Given the description of an element on the screen output the (x, y) to click on. 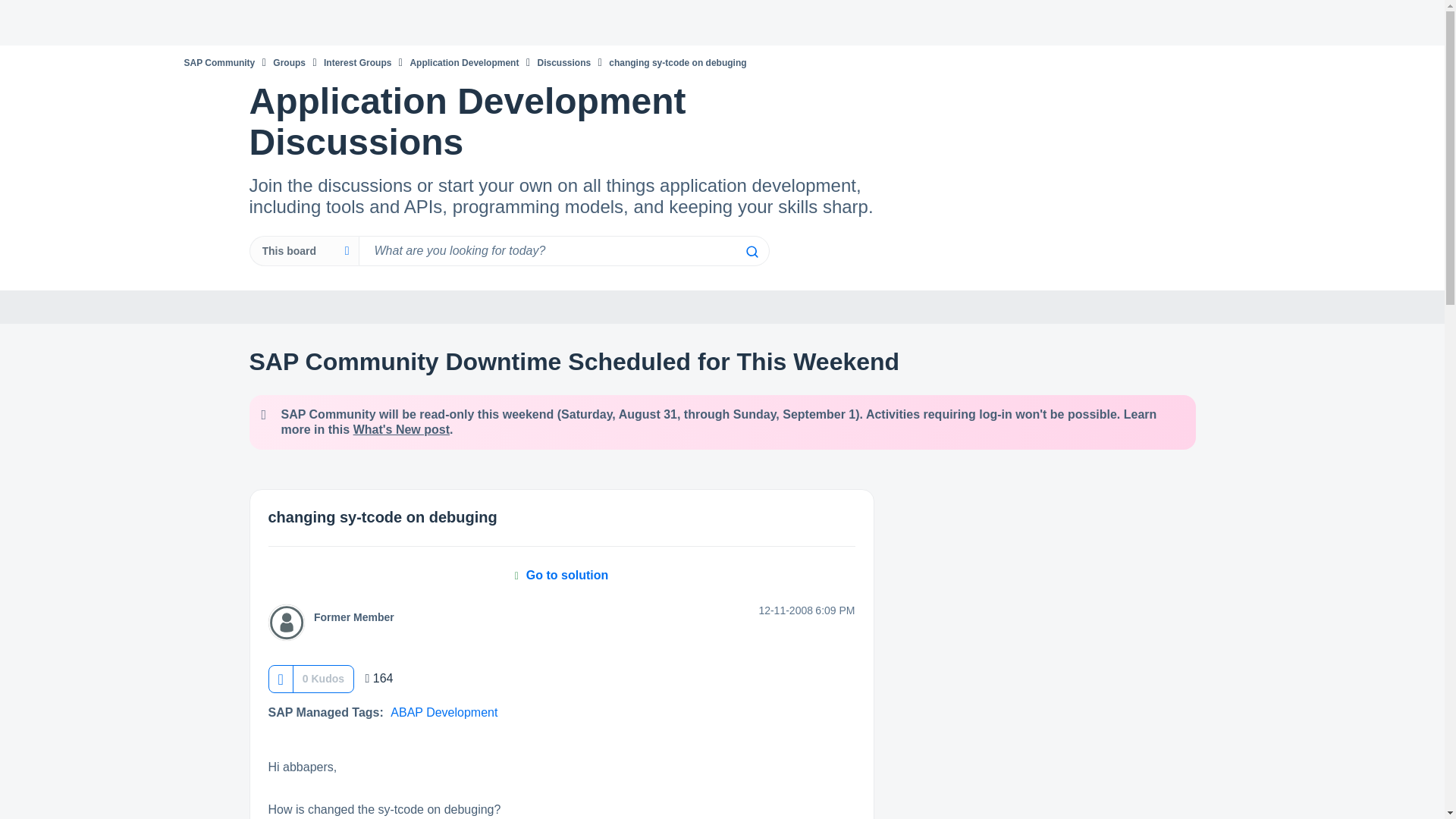
What's New post (401, 429)
Interest Groups (357, 62)
Groups (289, 62)
SAP Community (218, 62)
The total number of kudos this post has received. (323, 678)
Search (563, 250)
Search (750, 251)
ABAP Development (443, 712)
Discussions (564, 62)
Search Granularity (303, 250)
